Given the description of an element on the screen output the (x, y) to click on. 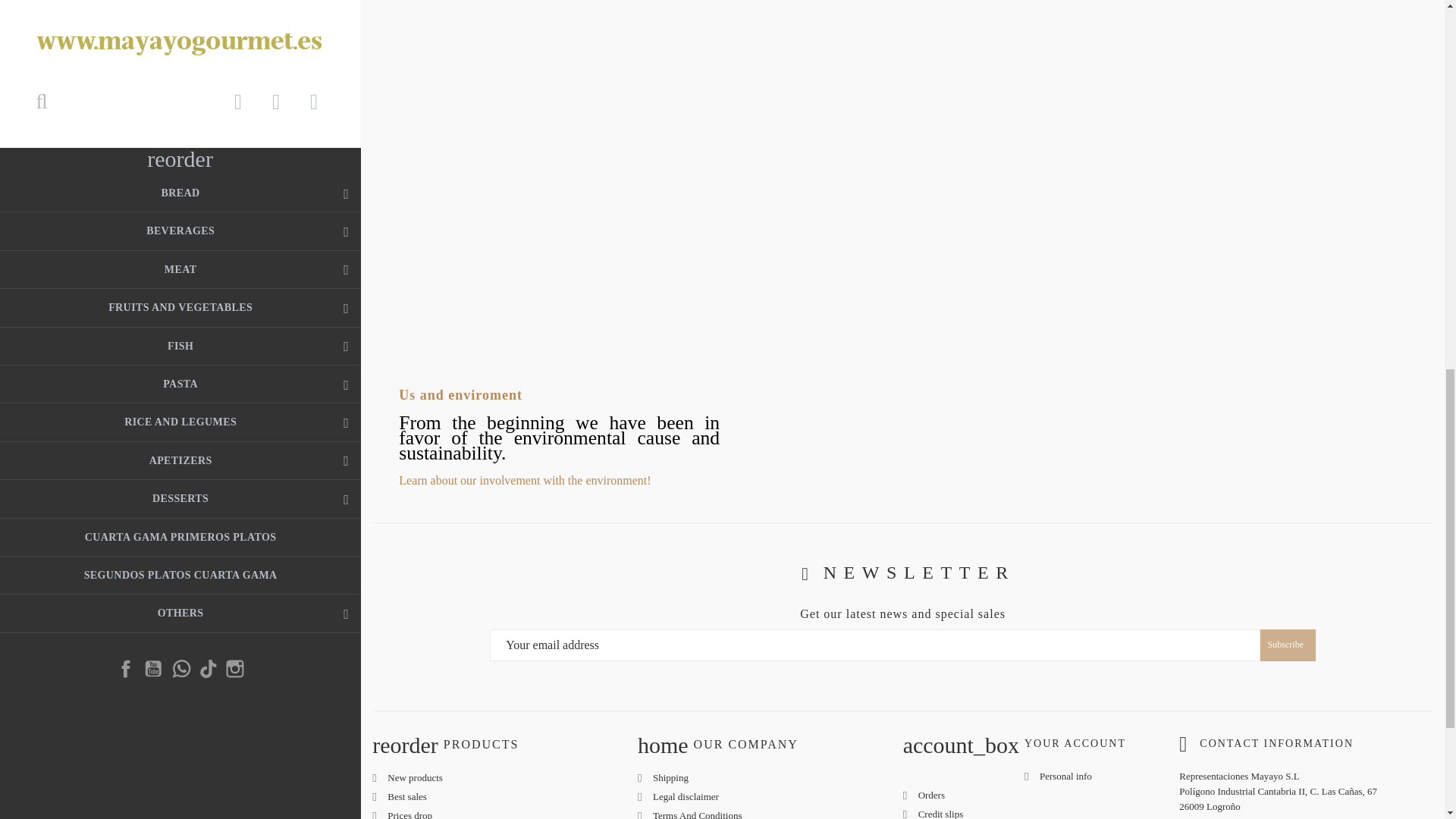
Credit slips (940, 813)
Personal info (1065, 776)
Best sales (406, 796)
Orders (931, 794)
Our Terms and Conditions (697, 814)
New products (414, 777)
legal disclaimer (685, 796)
Subscribe (1288, 644)
Our special products (409, 814)
